Given the description of an element on the screen output the (x, y) to click on. 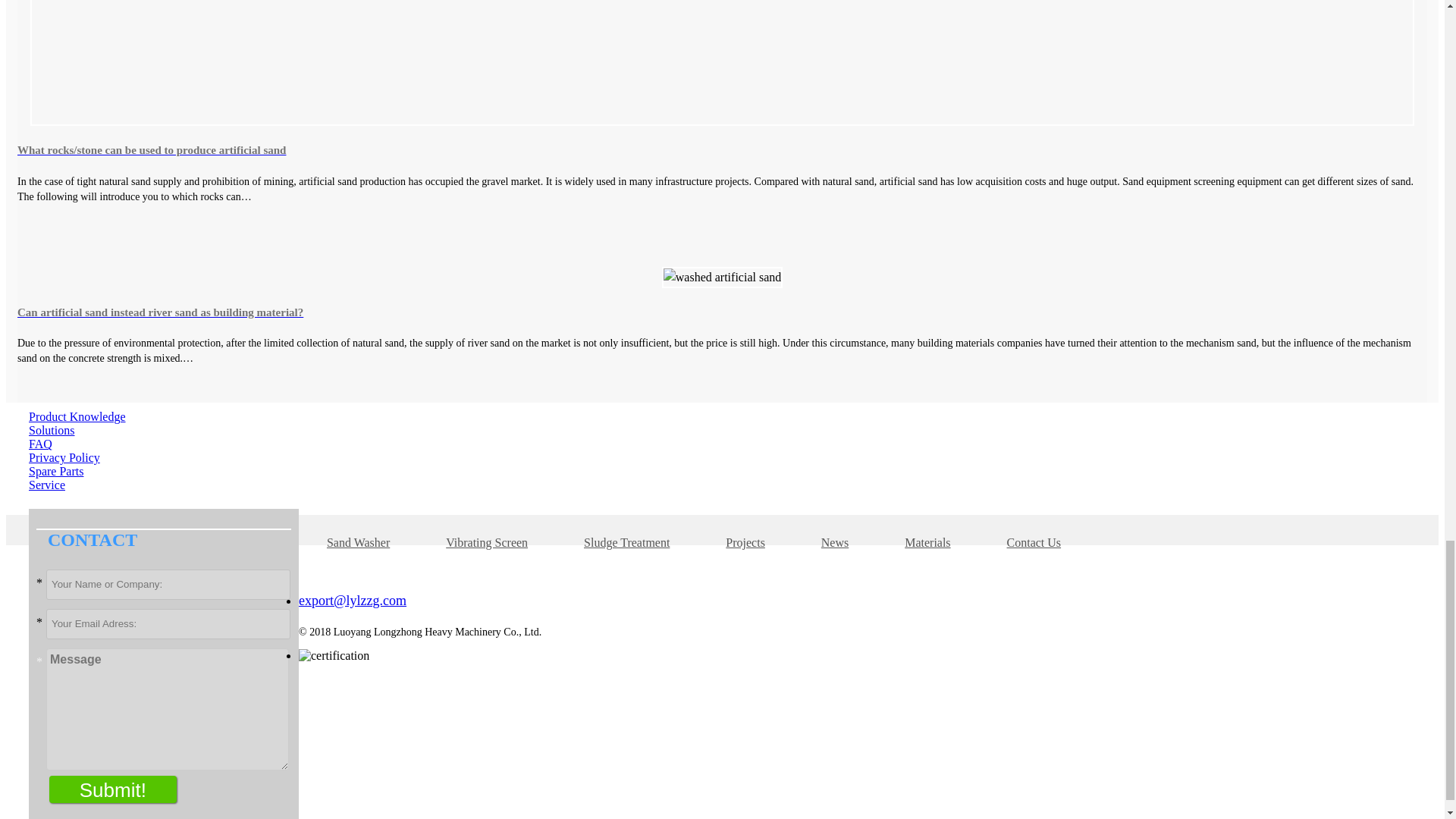
Spare Parts (55, 471)
Product Knowledge (77, 416)
Privacy Policy (64, 457)
FAQ (40, 443)
Submit! (112, 789)
Submit! (112, 789)
Can artificial sand instead river sand as building material? (721, 312)
Service (47, 484)
Solutions (51, 430)
Vibrating Screen (486, 542)
Sand Washer (358, 542)
